Given the description of an element on the screen output the (x, y) to click on. 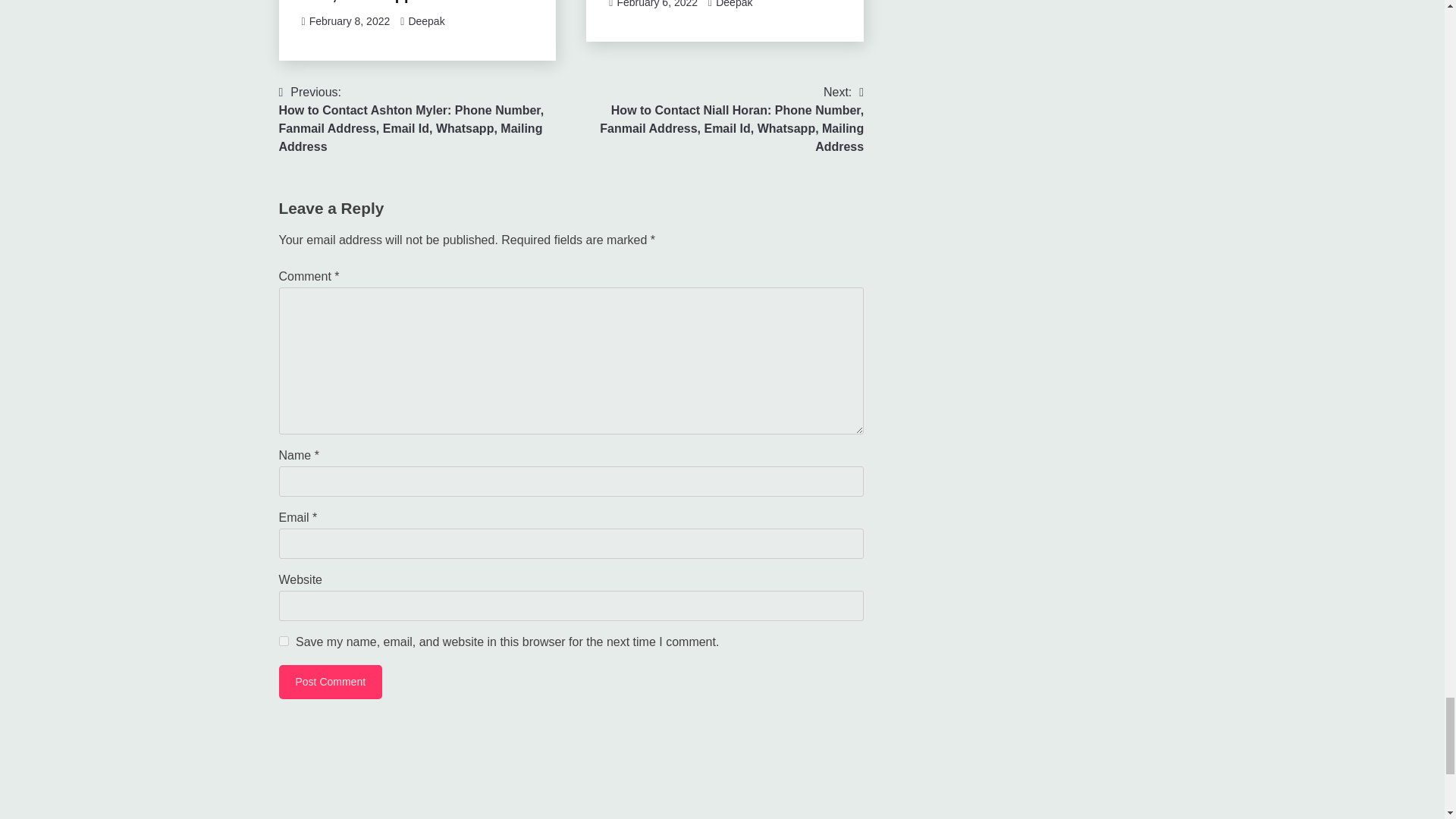
Deepak (425, 21)
Post Comment (330, 682)
February 6, 2022 (656, 4)
Deepak (734, 4)
Post Comment (330, 682)
February 8, 2022 (349, 21)
yes (283, 641)
